Given the description of an element on the screen output the (x, y) to click on. 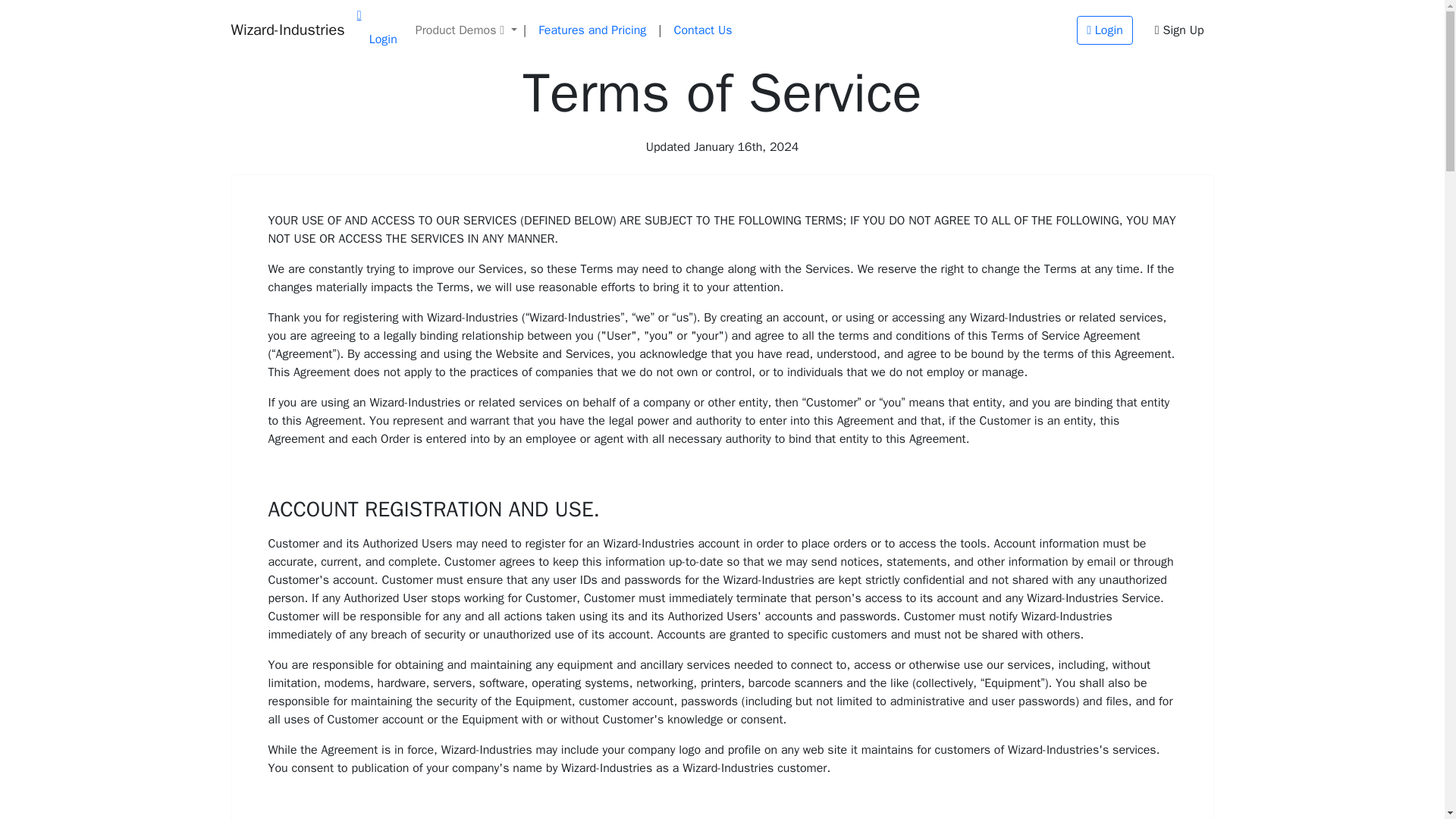
Features and Pricing (591, 30)
Wizard-Industries (286, 30)
Sign Up (1179, 30)
Login (1104, 30)
Contact Us (703, 30)
Product Demos (465, 30)
Login (382, 39)
